Given the description of an element on the screen output the (x, y) to click on. 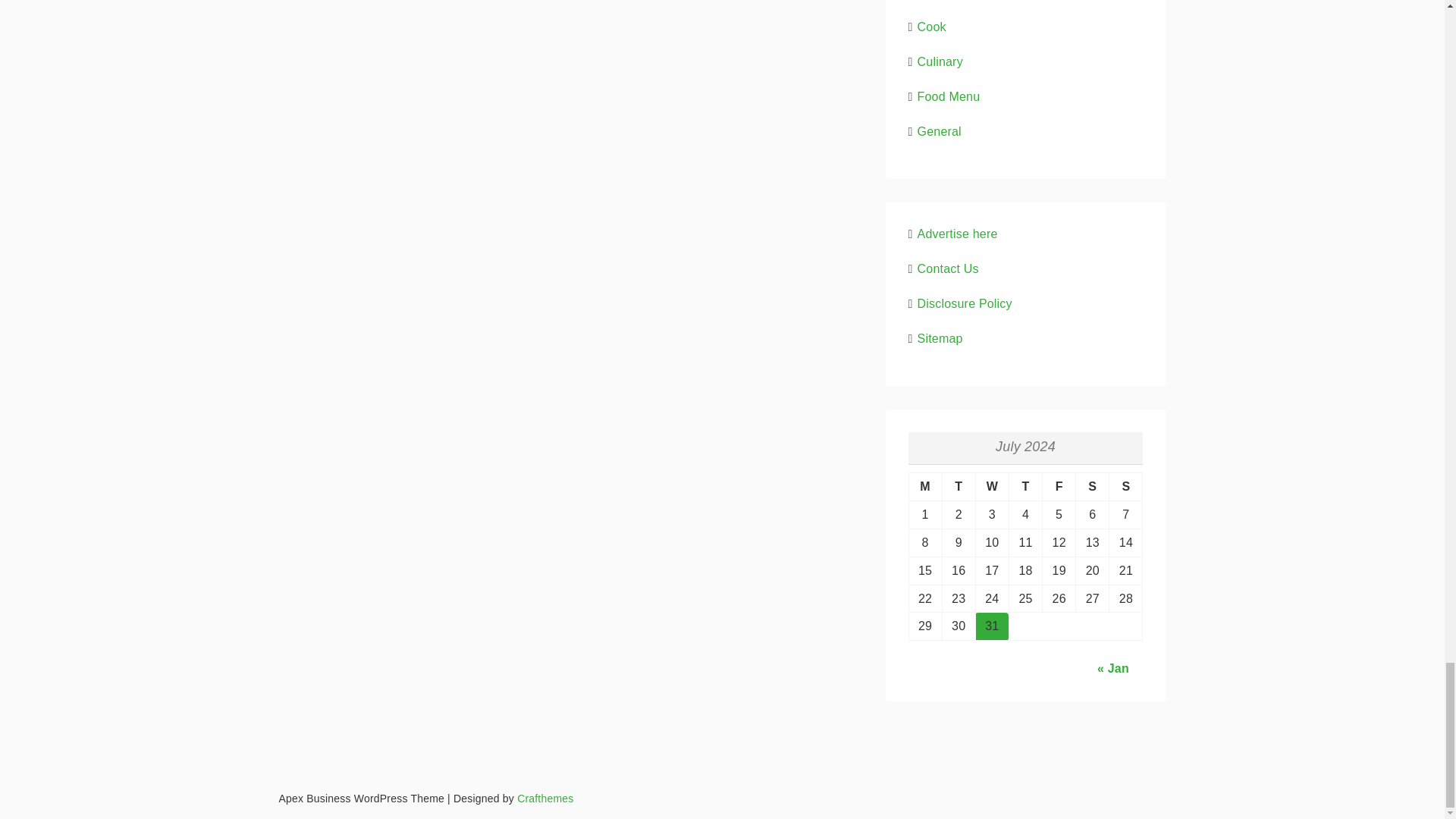
Tuesday (958, 487)
Monday (925, 487)
Wednesday (992, 487)
Sunday (1125, 487)
Friday (1058, 487)
Thursday (1025, 487)
Saturday (1092, 487)
